Given the description of an element on the screen output the (x, y) to click on. 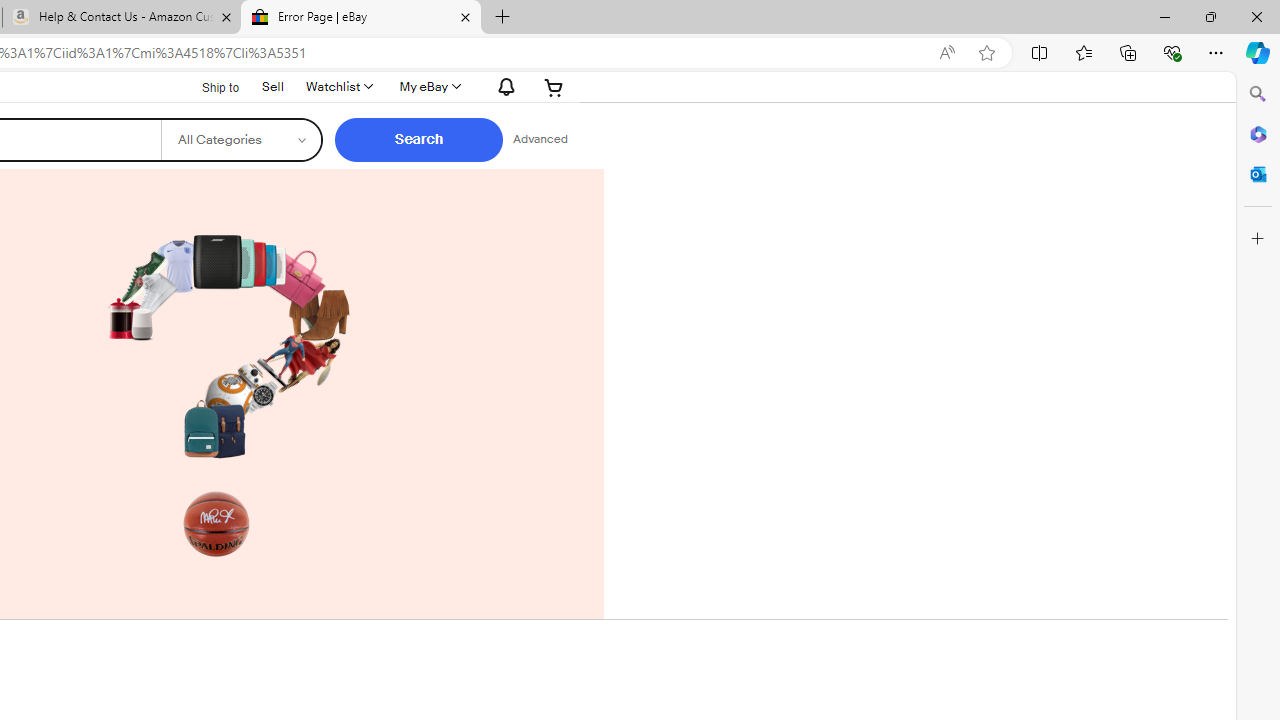
Your shopping cart (554, 86)
Advanced Search (539, 139)
Notifications (501, 86)
Sell (273, 86)
Ship to (207, 85)
Expand Cart (554, 86)
Error Page | eBay (360, 17)
